Given the description of an element on the screen output the (x, y) to click on. 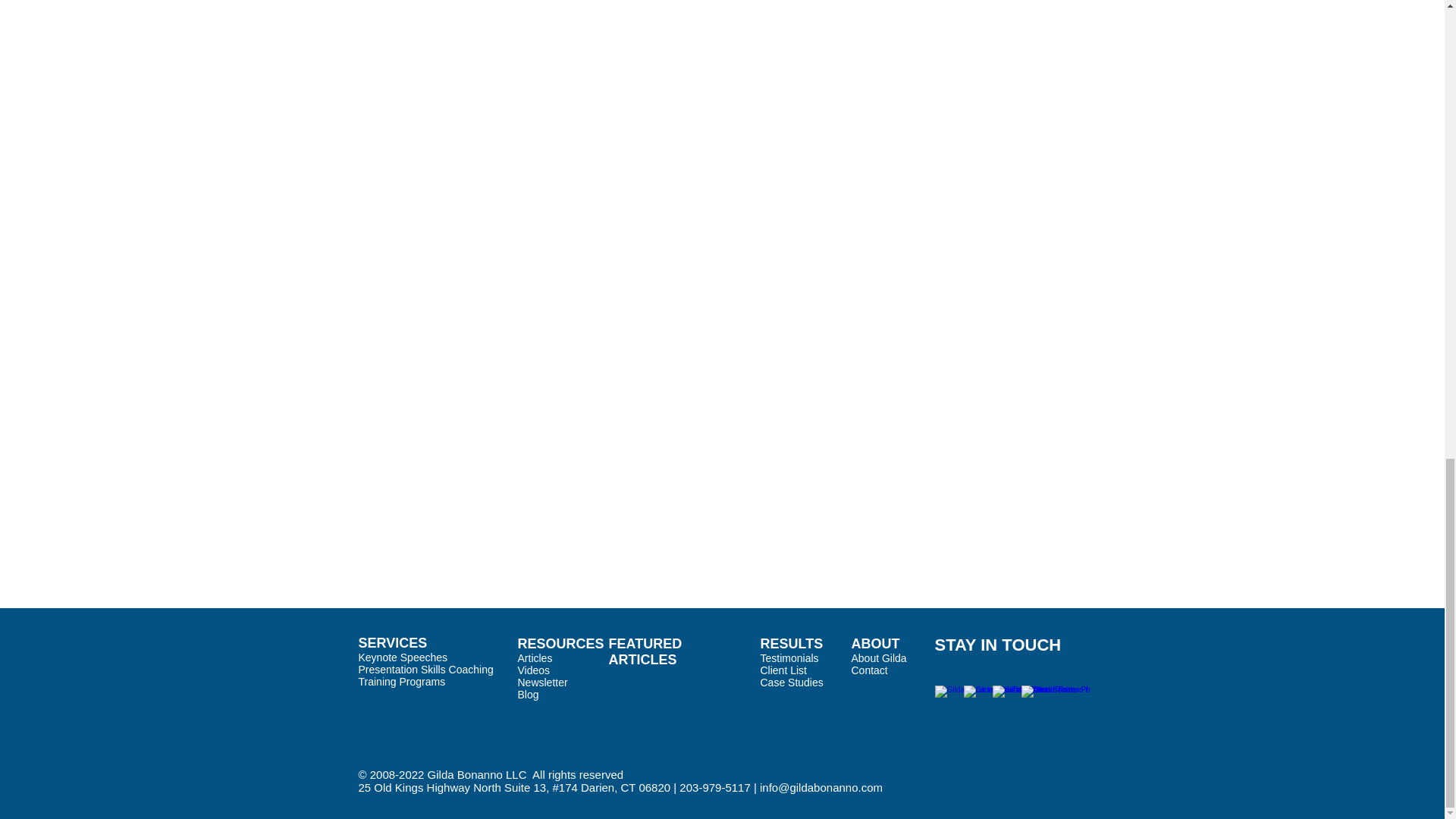
Videos (533, 670)
Blog (527, 694)
About Gilda (877, 657)
Newsletter (541, 682)
Client List (783, 670)
Training Programs (401, 681)
Presentation Skills Coaching (425, 669)
Keynote Speeches (402, 657)
Articles (533, 657)
Testimonials (789, 657)
